Given the description of an element on the screen output the (x, y) to click on. 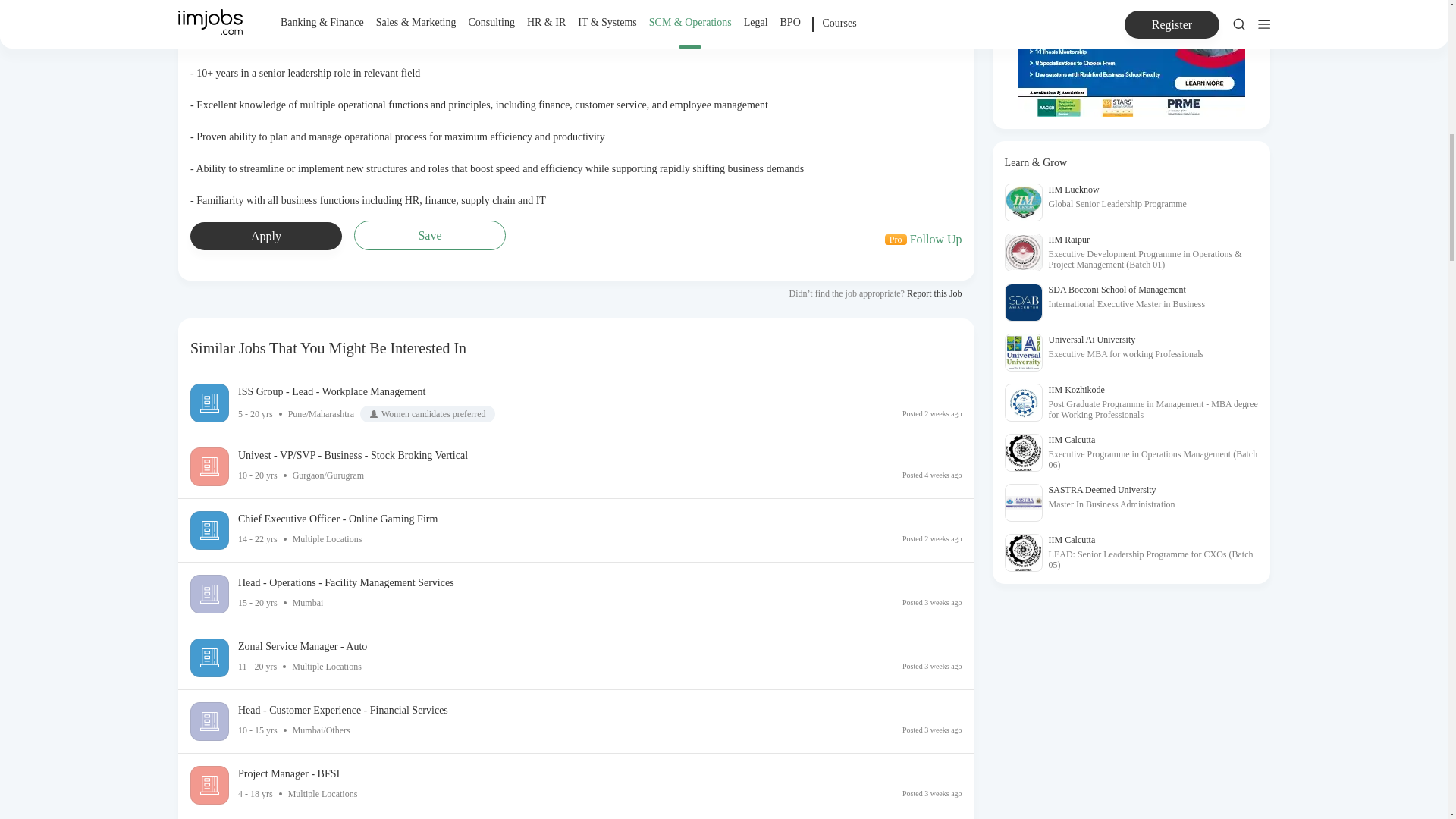
Save (923, 238)
Apply (429, 235)
